Given the description of an element on the screen output the (x, y) to click on. 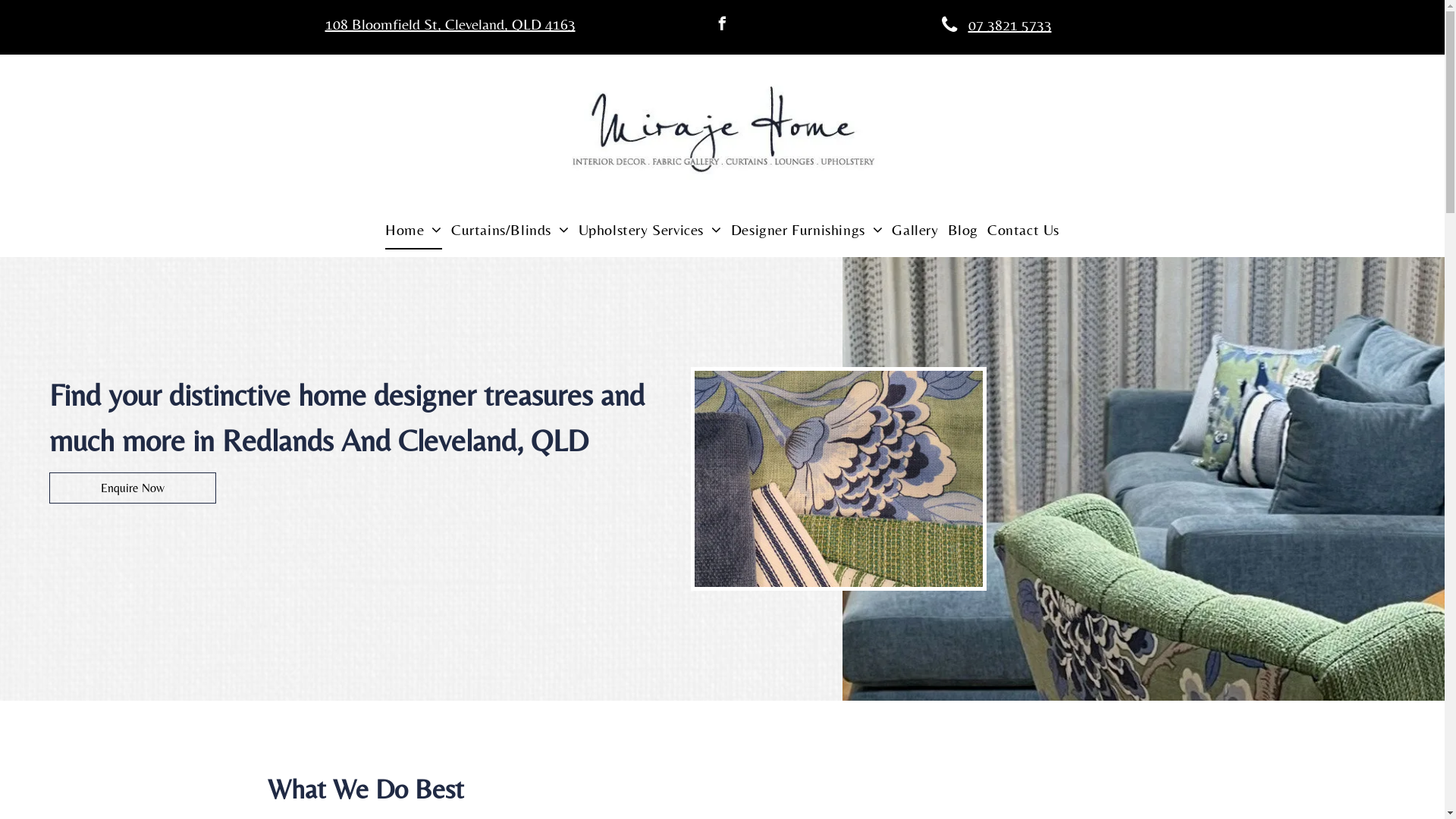
Home Element type: text (413, 229)
Gallery Element type: text (914, 229)
Contact Us Element type: text (1022, 229)
Blog Element type: text (962, 229)
Miraje Home Decor & Soft Furnishings Element type: hover (722, 136)
Enquire Now Element type: text (132, 487)
108 Bloomfield St, Cleveland, QLD 4163 Element type: text (449, 23)
Upholstery Services Element type: text (650, 229)
Curtains/Blinds Element type: text (510, 229)
07 3821 5733 Element type: text (993, 24)
Designer Furnishings Element type: text (807, 229)
